Given the description of an element on the screen output the (x, y) to click on. 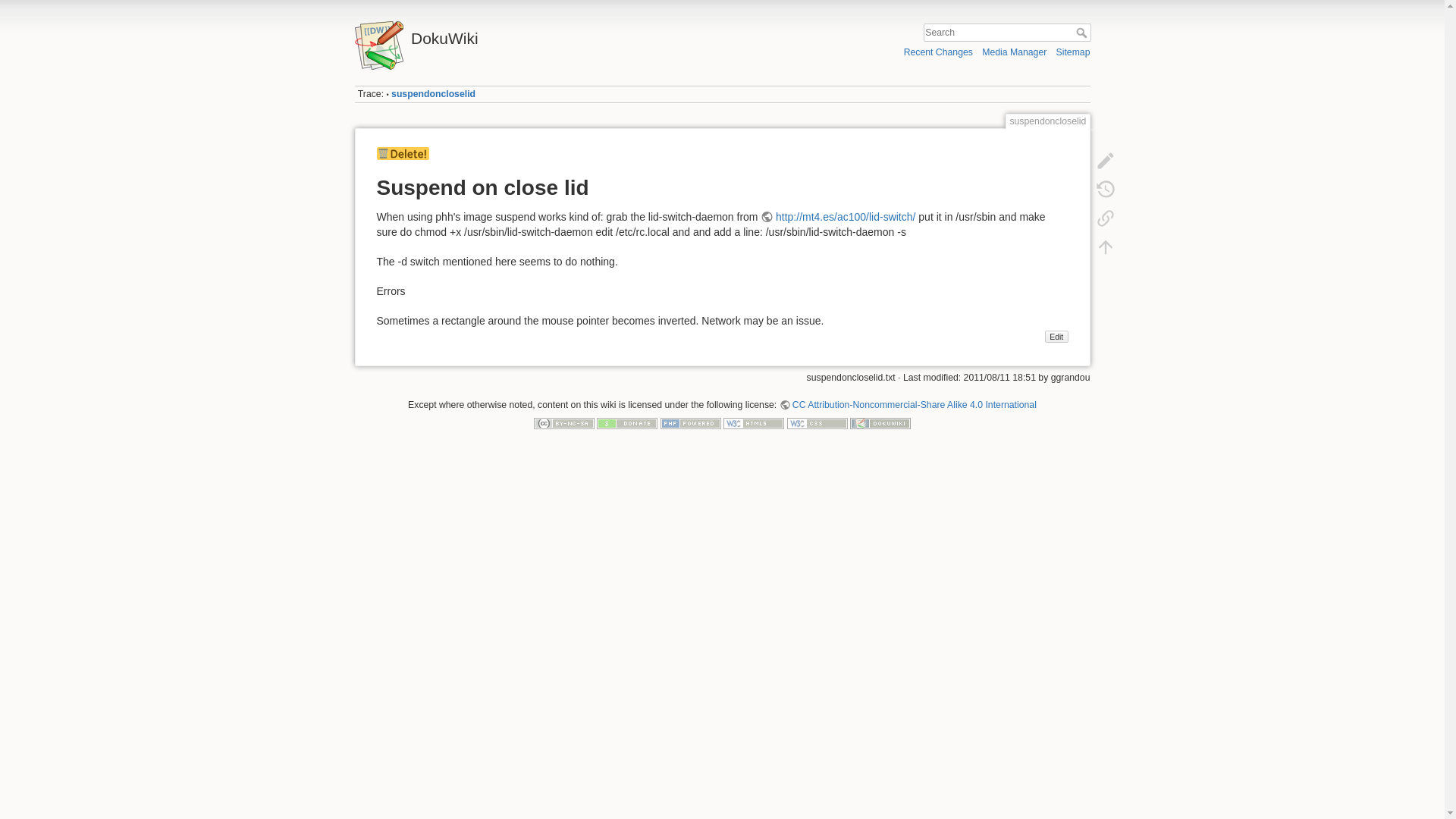
Media Manager (1013, 51)
suspendoncloselid (433, 93)
Sitemap (1073, 51)
Edit (1056, 336)
Media Manager (1013, 51)
CC Attribution-Noncommercial-Share Alike 4.0 International (907, 404)
Recent Changes (938, 51)
Search (1082, 32)
DokuWiki (534, 34)
Backlinks (1104, 217)
